Given the description of an element on the screen output the (x, y) to click on. 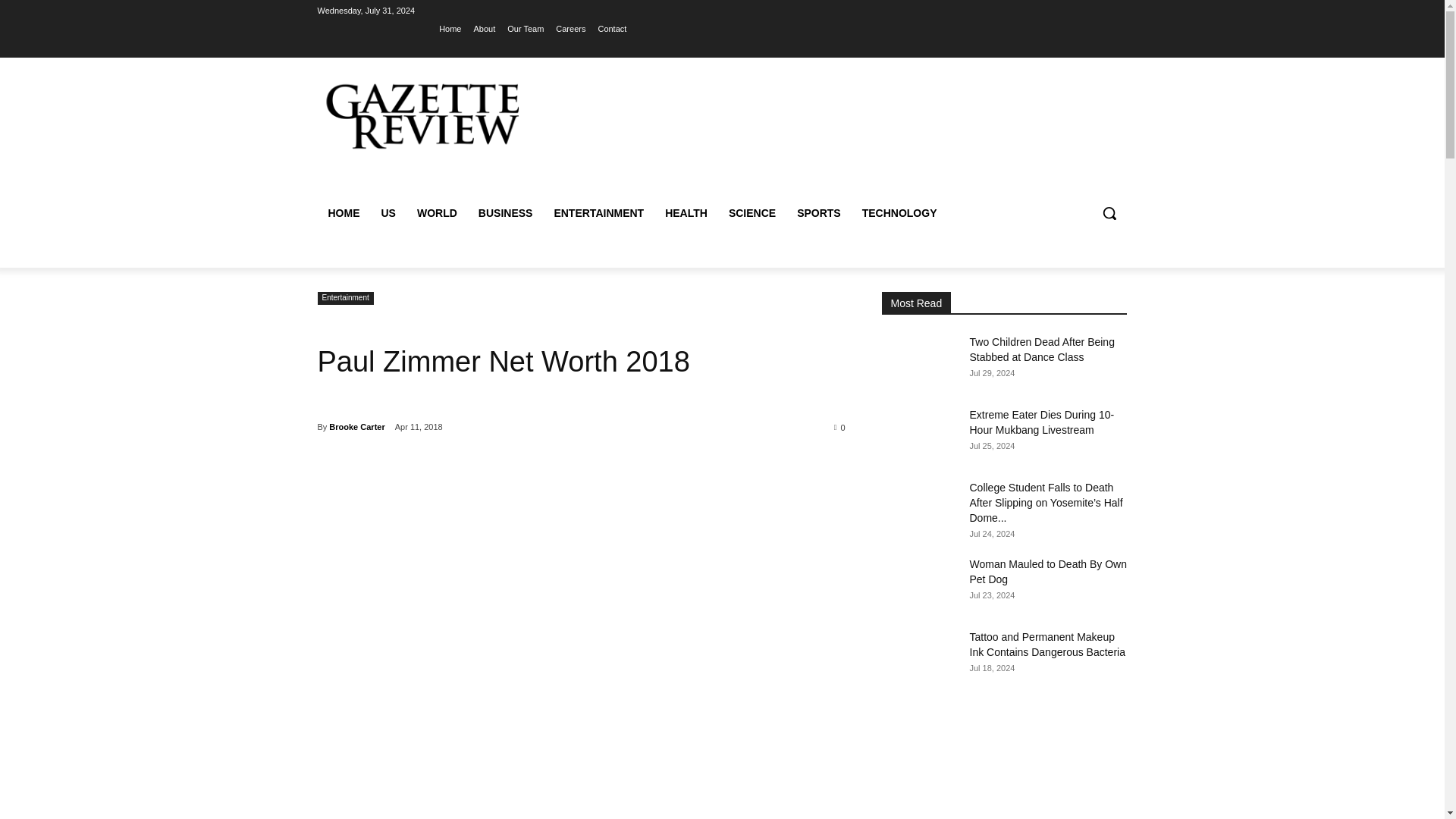
Home (450, 28)
US (387, 212)
WORLD (436, 212)
SCIENCE (751, 212)
TECHNOLOGY (899, 212)
SPORTS (818, 212)
HEALTH (685, 212)
HOME (343, 212)
Contact (611, 28)
Careers (570, 28)
BUSINESS (505, 212)
ENTERTAINMENT (598, 212)
Brooke Carter (356, 426)
Our Team (524, 28)
Entertainment (344, 297)
